Given the description of an element on the screen output the (x, y) to click on. 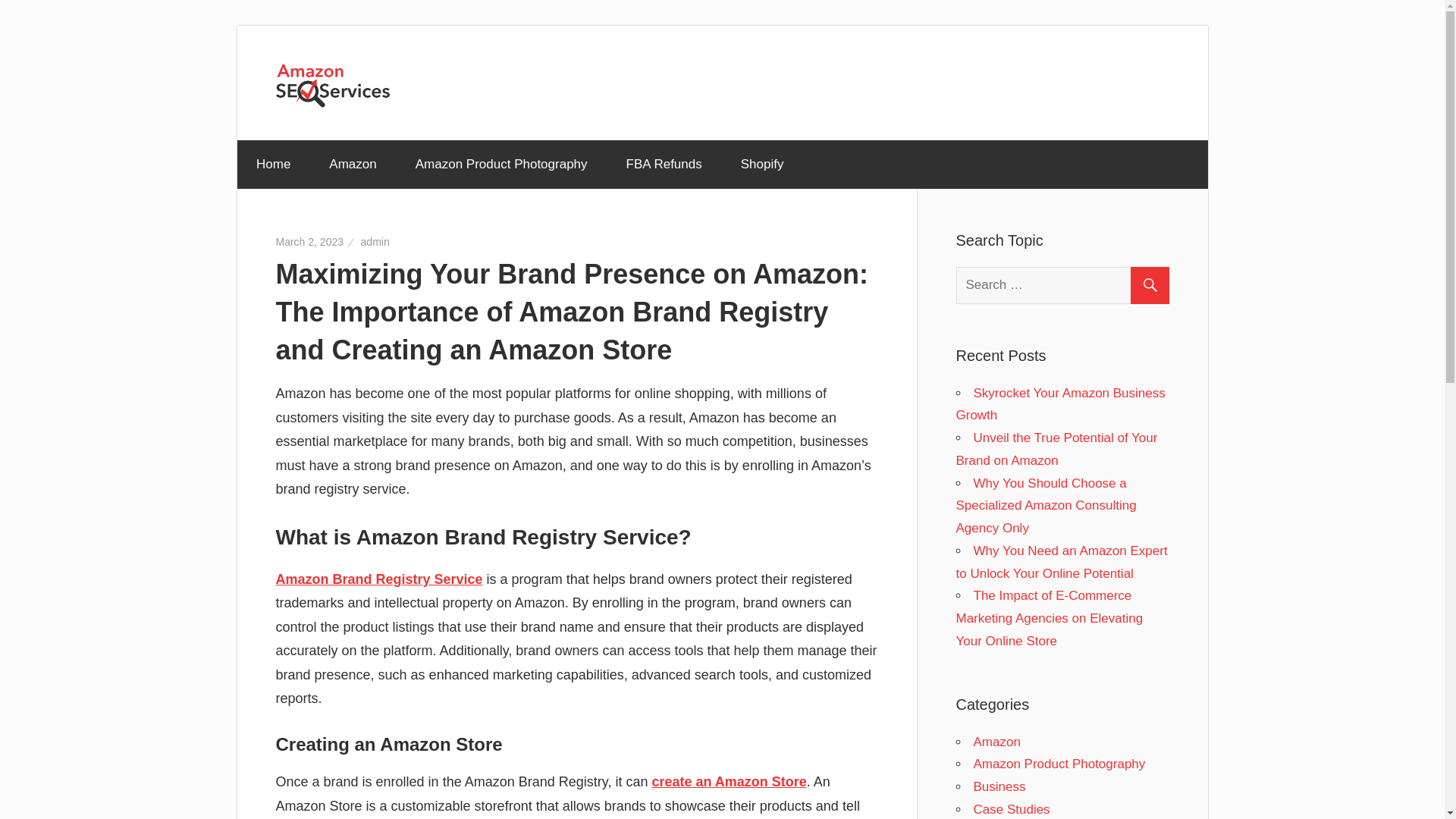
Search for: (1068, 284)
create an Amazon Store (728, 781)
Amazon (997, 740)
Business (1000, 786)
admin (375, 241)
Amazon Brand Registry Service (379, 579)
Amazon Brand Registry Service (379, 579)
FBA Refunds (663, 164)
View all posts by admin (375, 241)
create an Amazon Store (728, 781)
Unveil the True Potential of Your Brand on Amazon (1056, 448)
Amazon (353, 164)
